Given the description of an element on the screen output the (x, y) to click on. 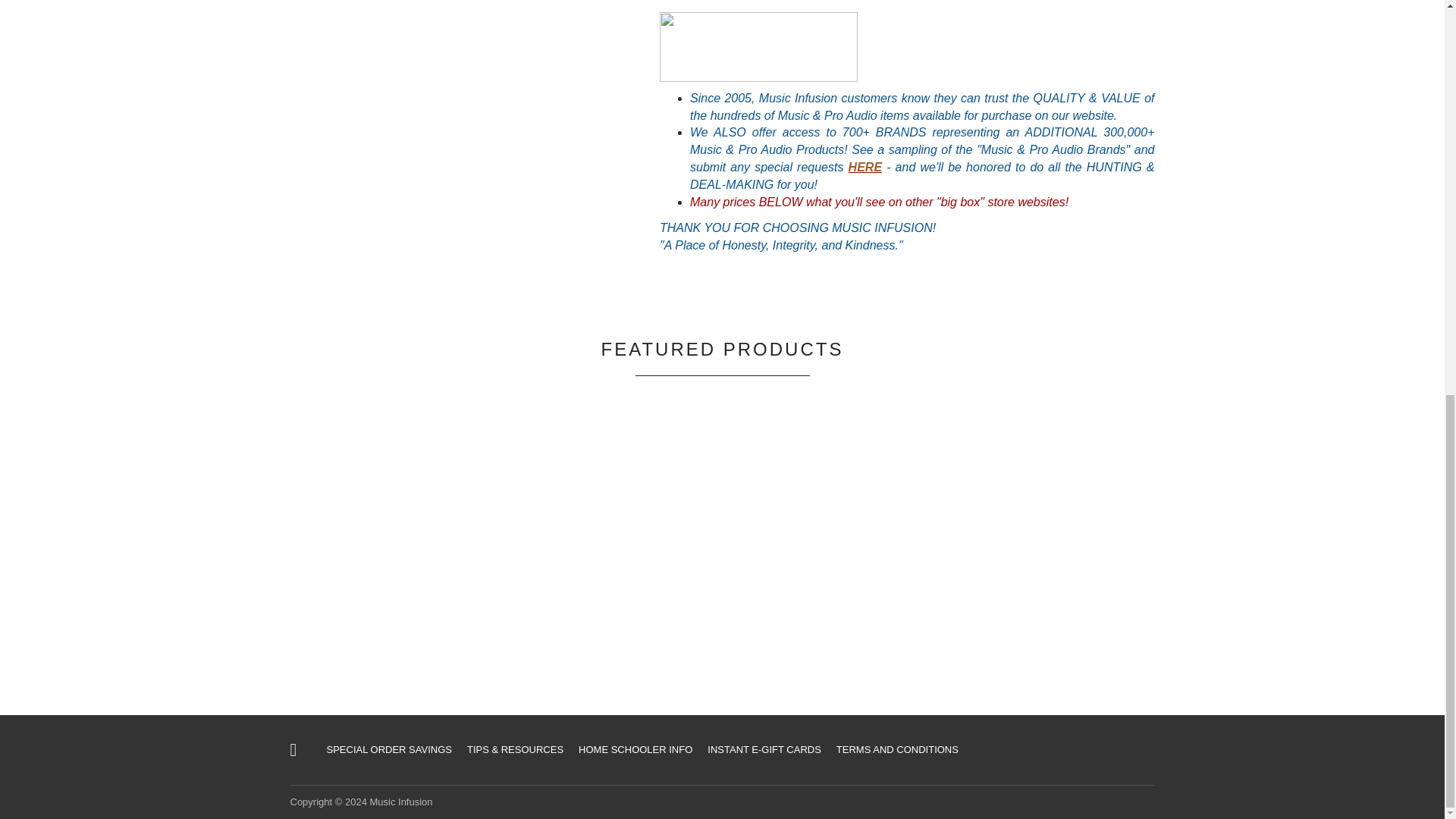
HERE (865, 166)
INSTANT E-GIFT CARDS (764, 749)
SPECIAL ORDER SAVINGS (388, 749)
TERMS AND CONDITIONS (897, 749)
HOME SCHOOLER INFO (635, 749)
